Given the description of an element on the screen output the (x, y) to click on. 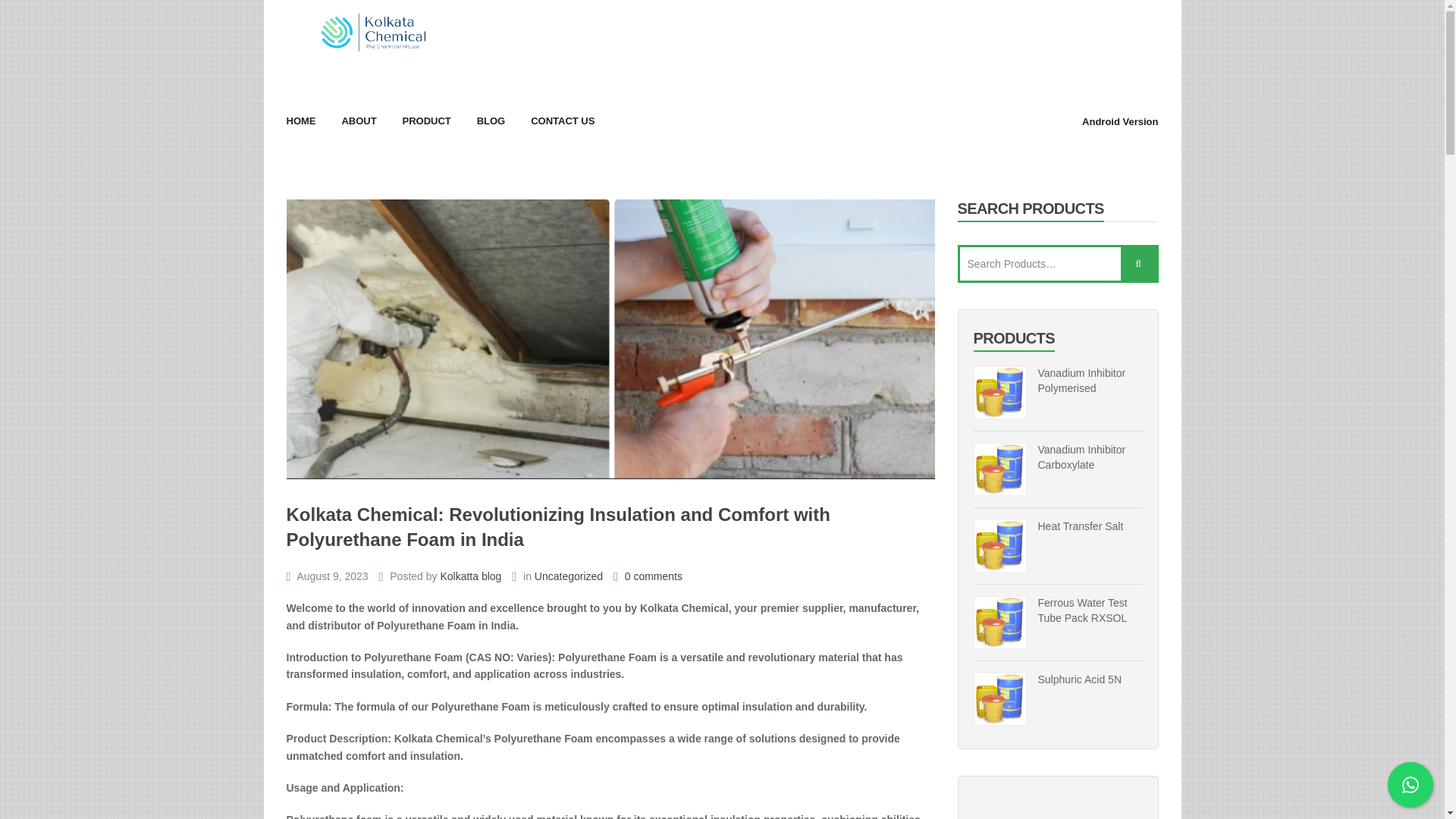
HOME (300, 120)
PRODUCT (425, 120)
Search for: (1056, 263)
BLOG (491, 120)
CONTACT US (562, 120)
ABOUT (357, 120)
Kolkatta blog (469, 576)
Android Version (1119, 121)
0 comments (647, 576)
